Given the description of an element on the screen output the (x, y) to click on. 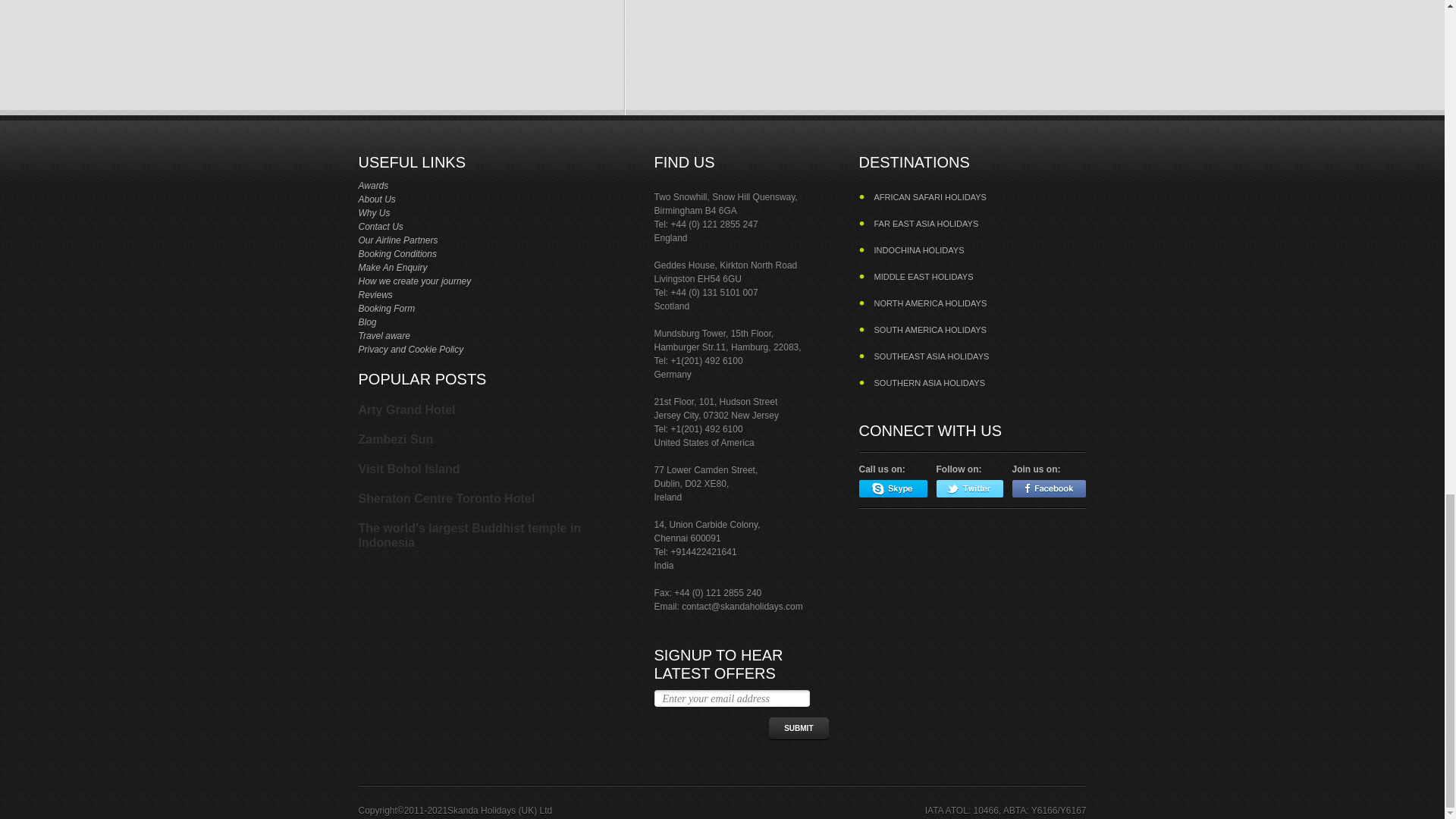
SUBMIT (798, 728)
Enter your email address (731, 697)
